Given the description of an element on the screen output the (x, y) to click on. 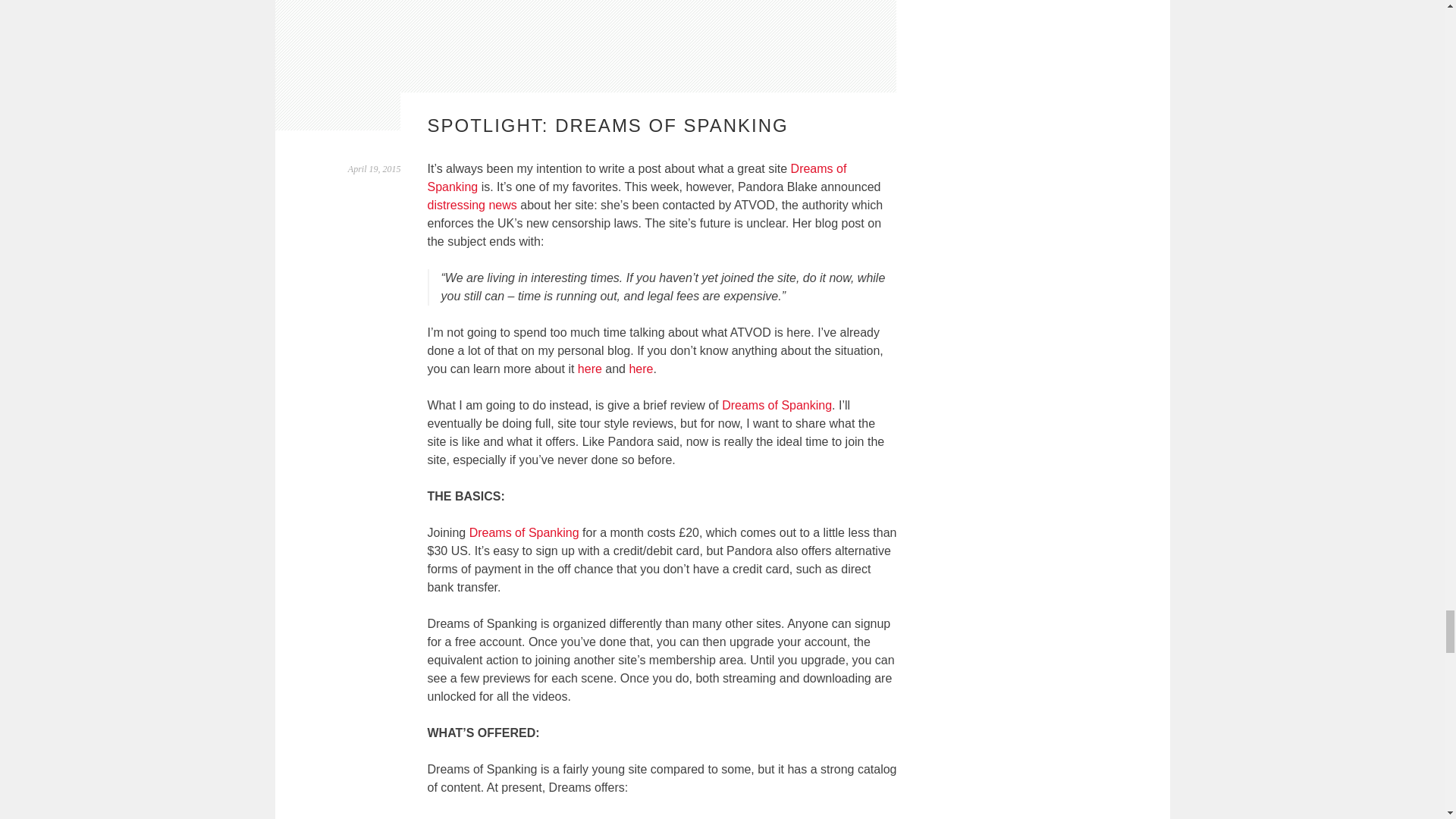
Permalink to Spotlight: Dreams of Spanking (374, 168)
